Given the description of an element on the screen output the (x, y) to click on. 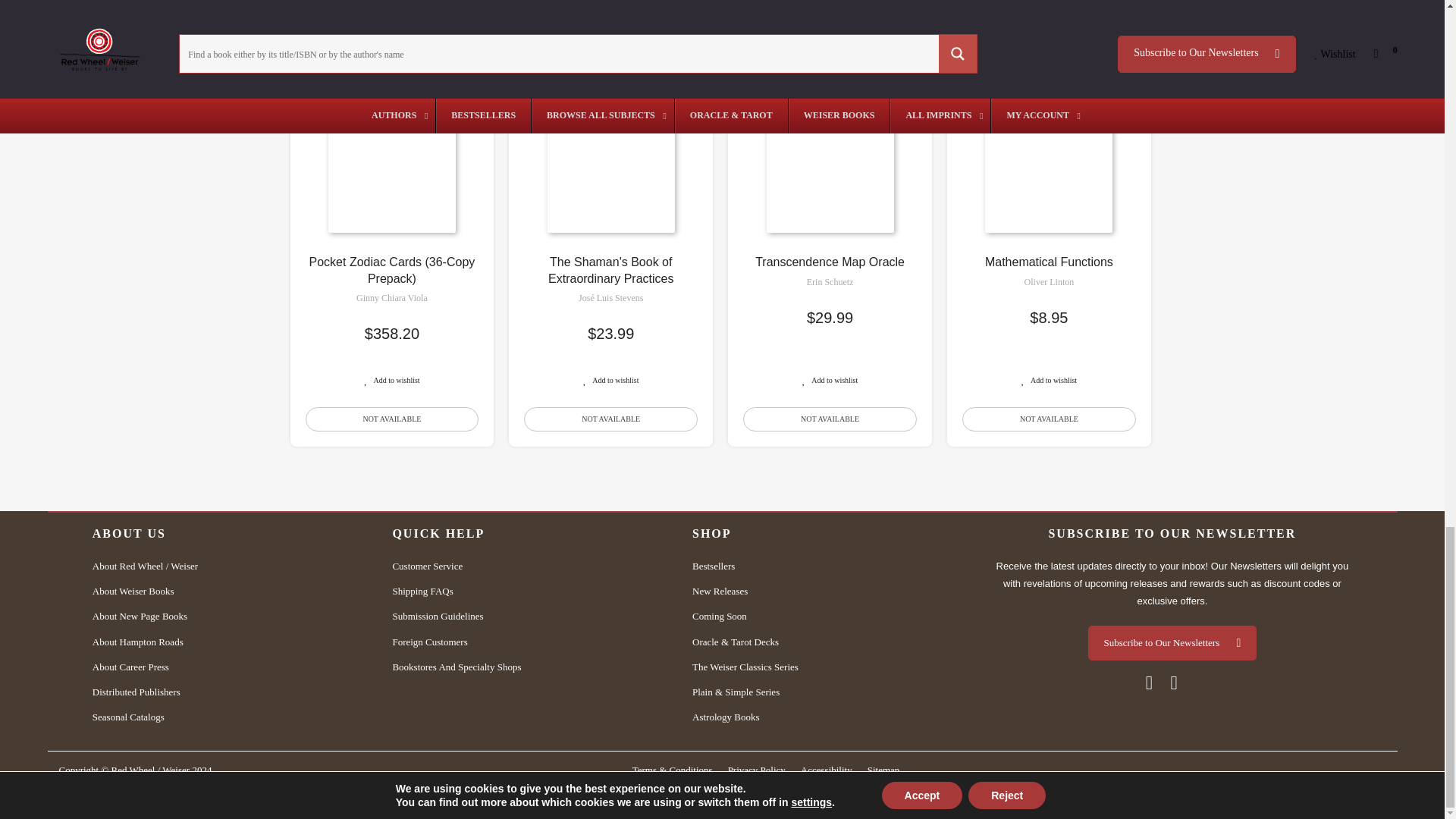
Insegment (1339, 799)
